Given the description of an element on the screen output the (x, y) to click on. 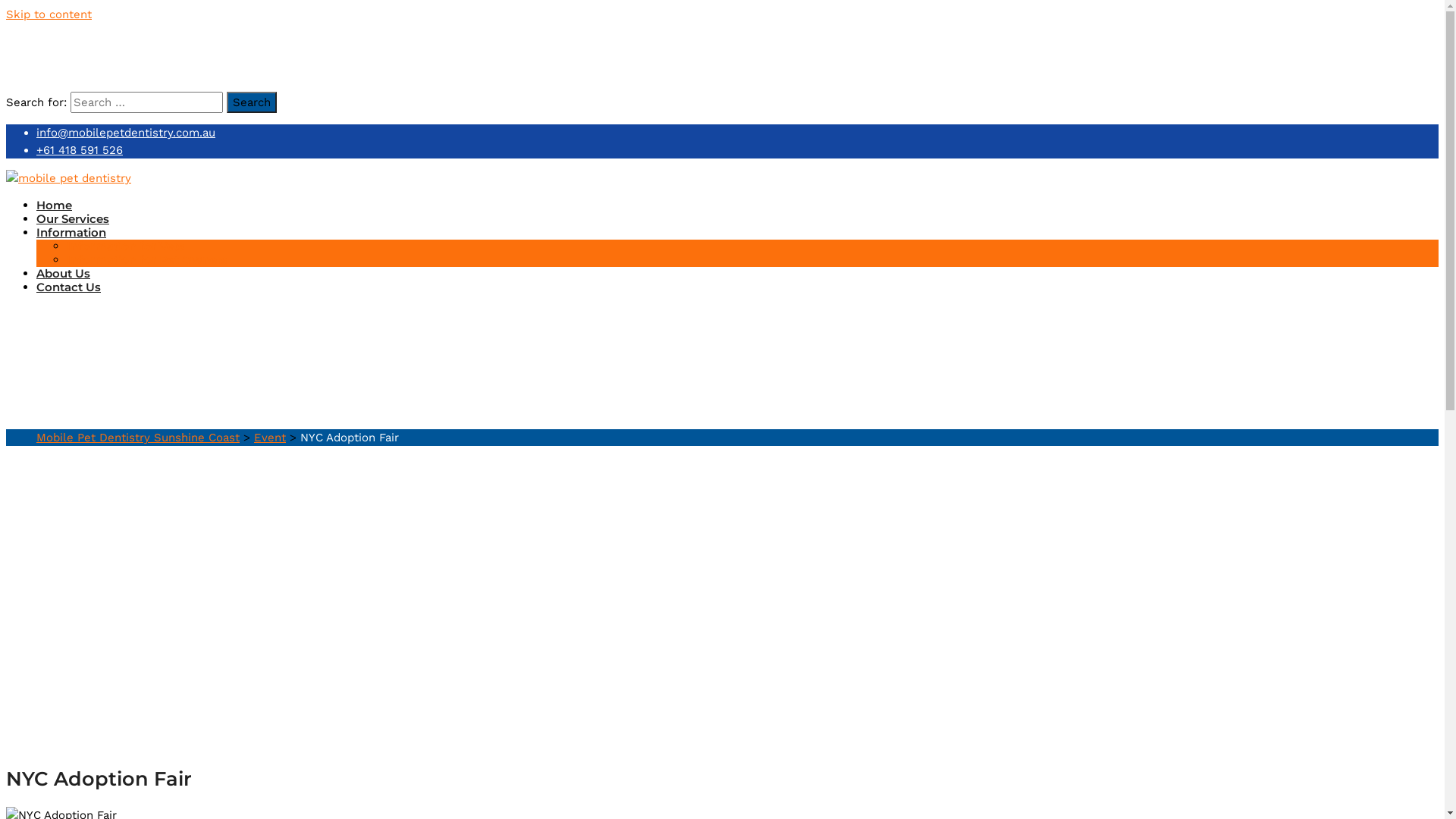
Search Element type: text (251, 101)
Information for Pet Owners Element type: text (146, 258)
Mobile Pet Dentistry Sunshine Coast Element type: text (137, 437)
Skip to content Element type: text (48, 14)
Our Services Element type: text (72, 217)
Information Element type: text (71, 231)
info@mobilepetdentistry.com.au Element type: text (125, 132)
About Us Element type: text (63, 272)
Home Element type: text (54, 204)
Event Element type: text (269, 437)
Information for Vets Element type: text (125, 245)
Contact Us Element type: text (68, 286)
+61 418 591 526 Element type: text (79, 149)
